Given the description of an element on the screen output the (x, y) to click on. 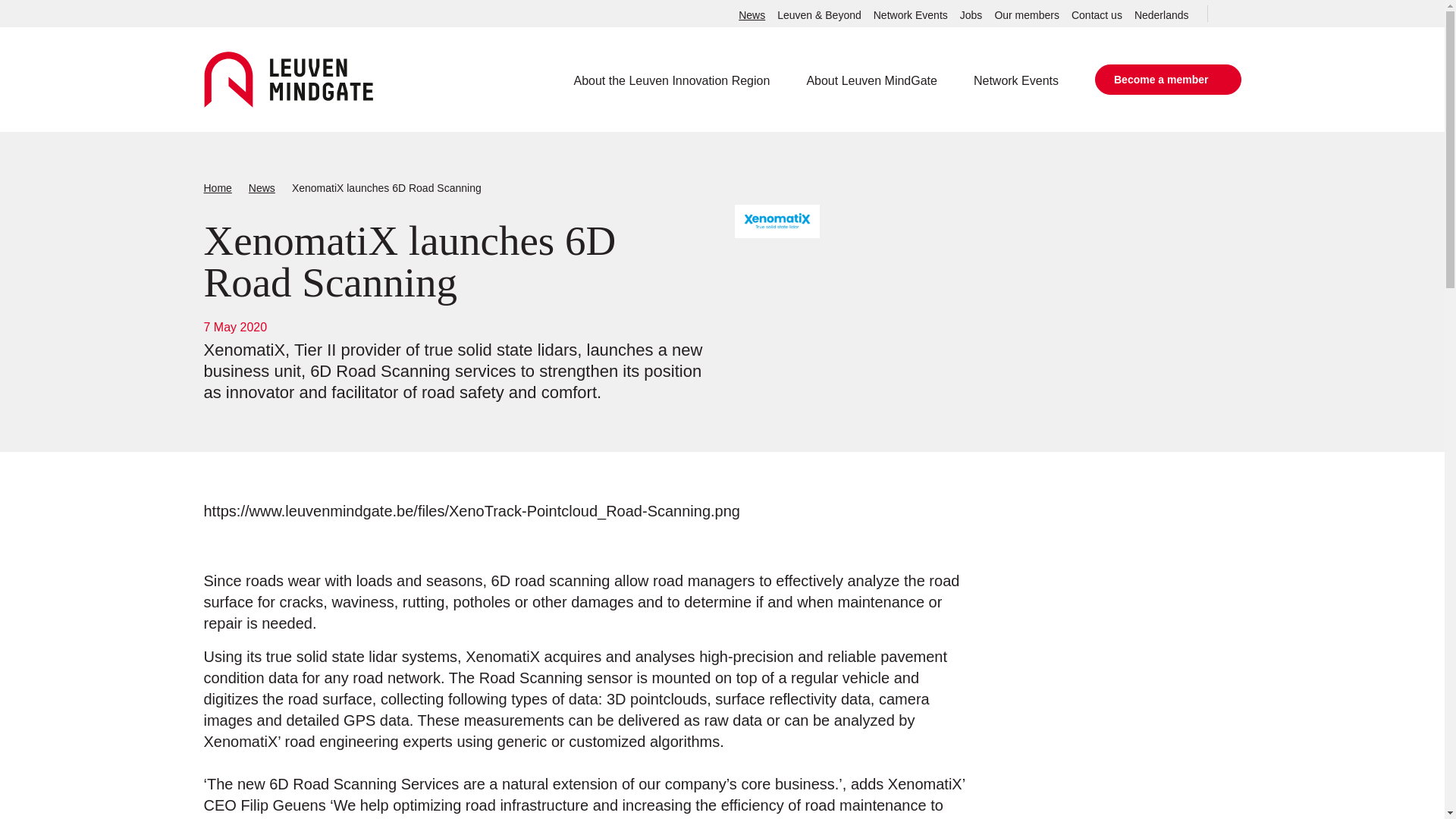
News (261, 187)
Become a member (1167, 79)
News (751, 15)
Search (1224, 13)
About Leuven MindGate (871, 80)
Network Events (1016, 80)
XenomatiX launches 6D Road Scanning (386, 187)
Nederlands (1161, 15)
Home (217, 187)
Our members (1026, 15)
